Given the description of an element on the screen output the (x, y) to click on. 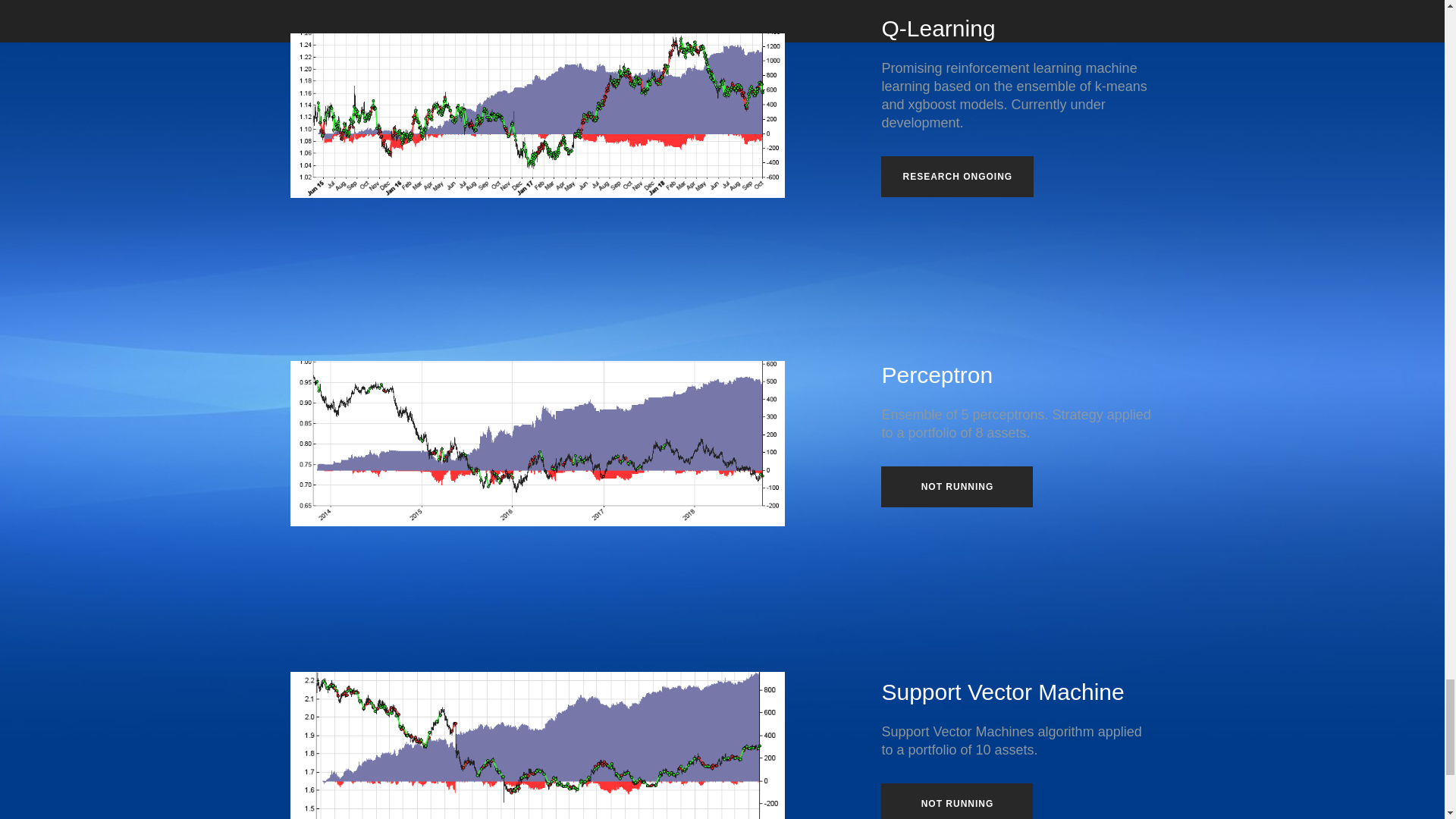
NOT RUNNING (956, 486)
RESEARCH ONGOING (956, 176)
NOT RUNNING (956, 800)
